Given the description of an element on the screen output the (x, y) to click on. 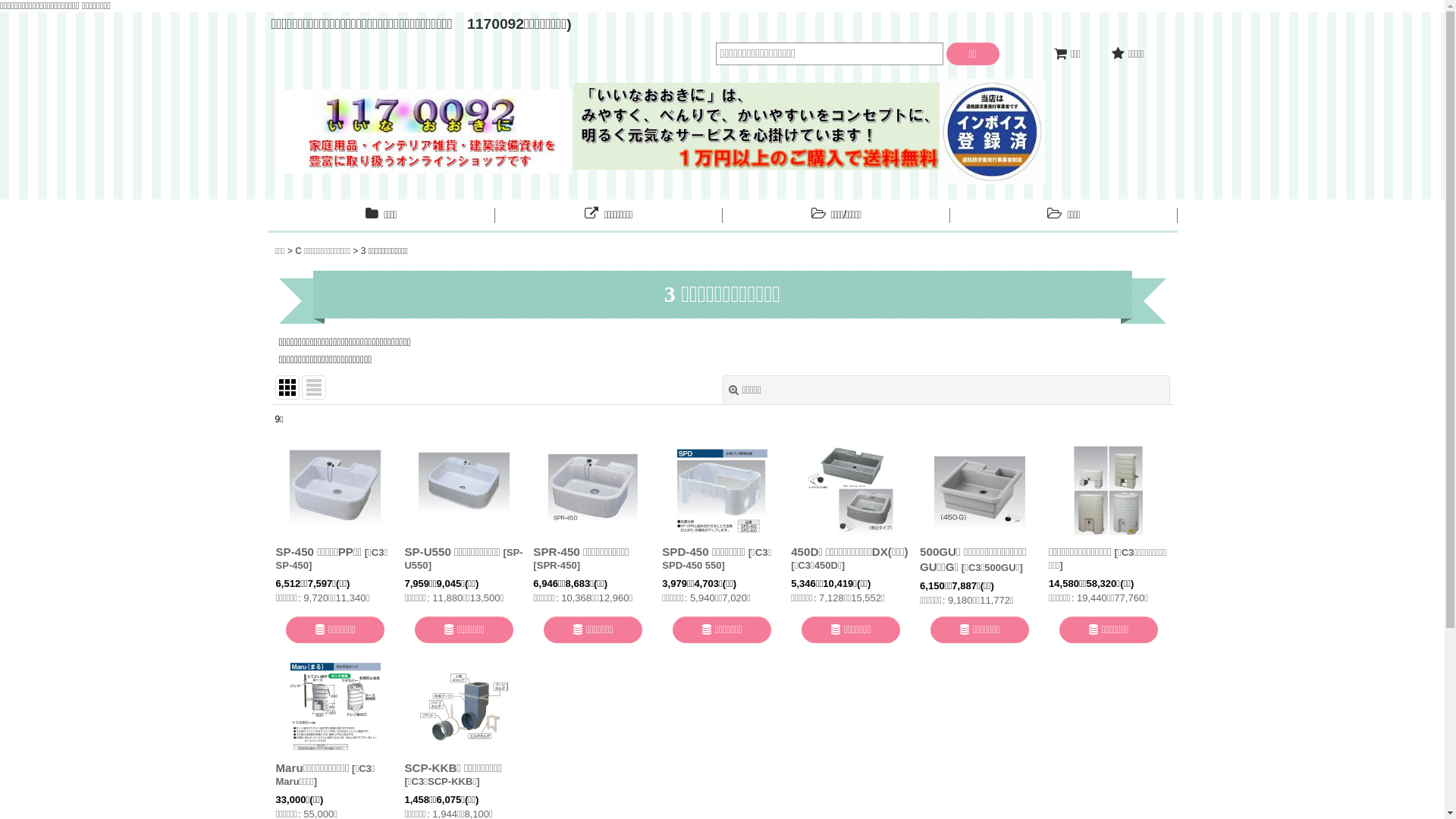
1 Element type: text (722, 516)
